Given the description of an element on the screen output the (x, y) to click on. 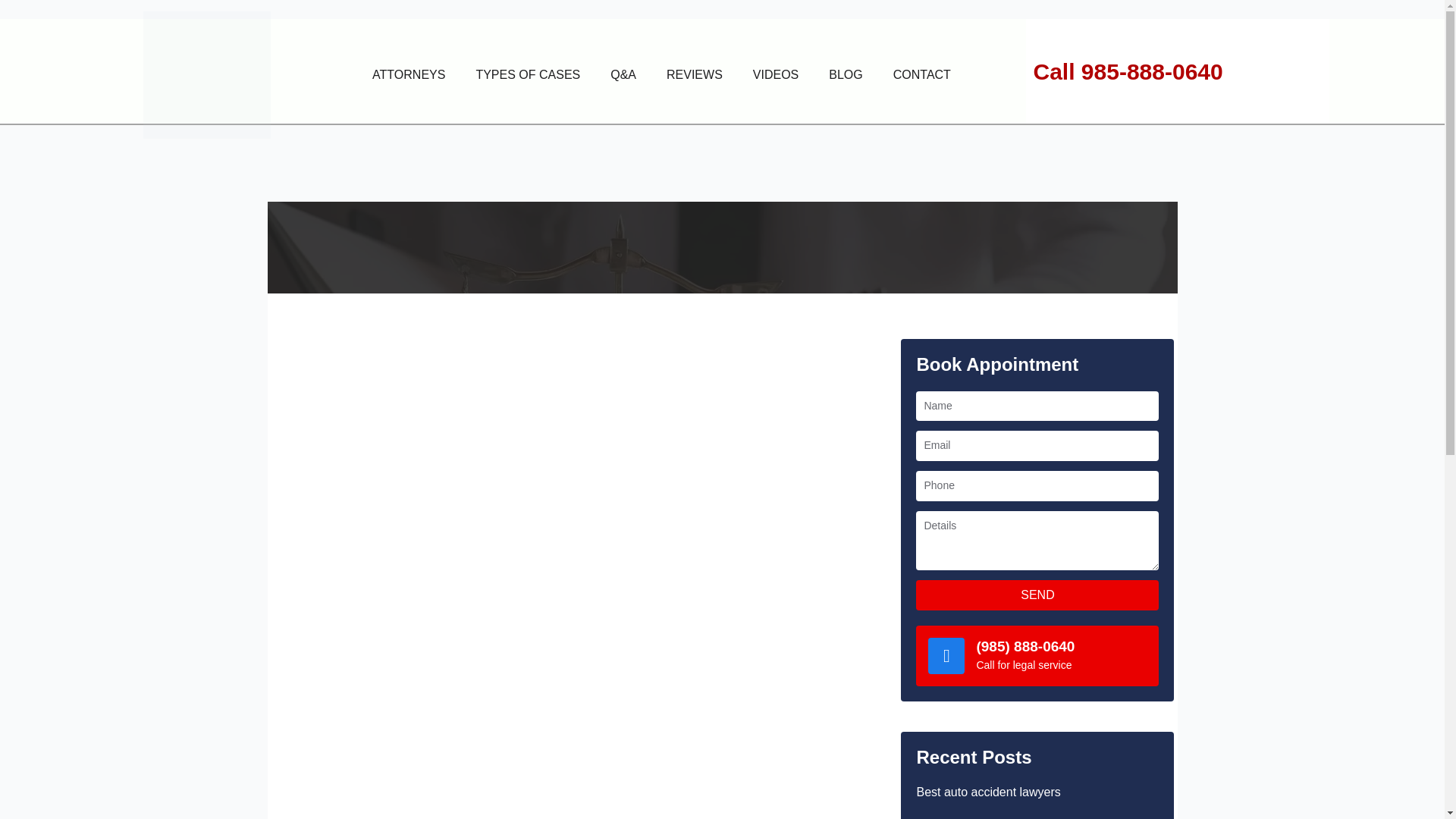
BLOG (845, 74)
ATTORNEYS (408, 74)
TYPES OF CASES (527, 74)
CONTACT (921, 74)
VIDEOS (775, 74)
REVIEWS (694, 74)
